Given the description of an element on the screen output the (x, y) to click on. 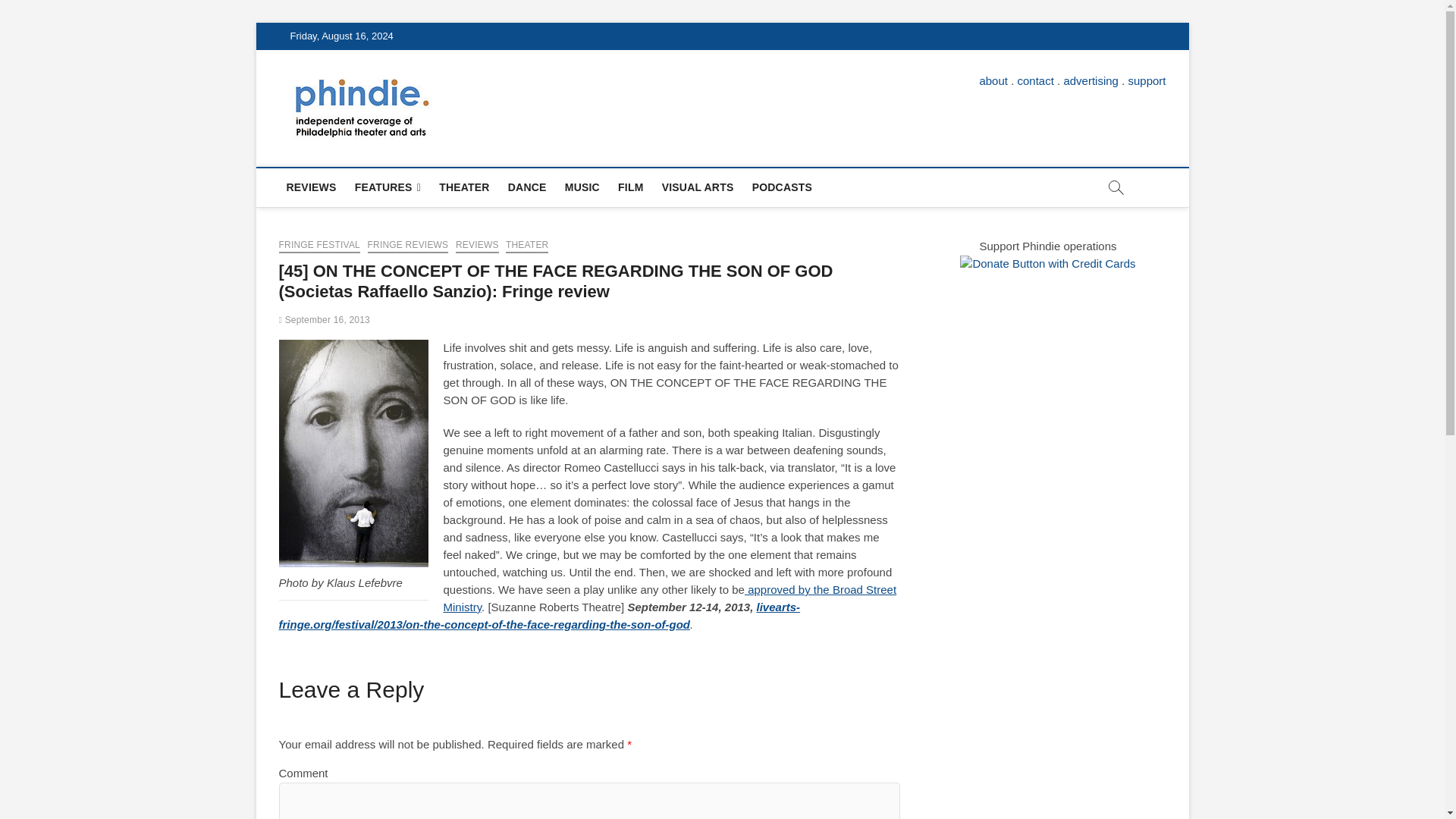
FRINGE REVIEWS (408, 246)
DANCE (527, 187)
PODCASTS (781, 187)
REVIEWS (477, 246)
THEATER (463, 187)
REVIEWS (311, 187)
FILM (630, 187)
about (992, 80)
phindie (478, 100)
VISUAL ARTS (697, 187)
